Given the description of an element on the screen output the (x, y) to click on. 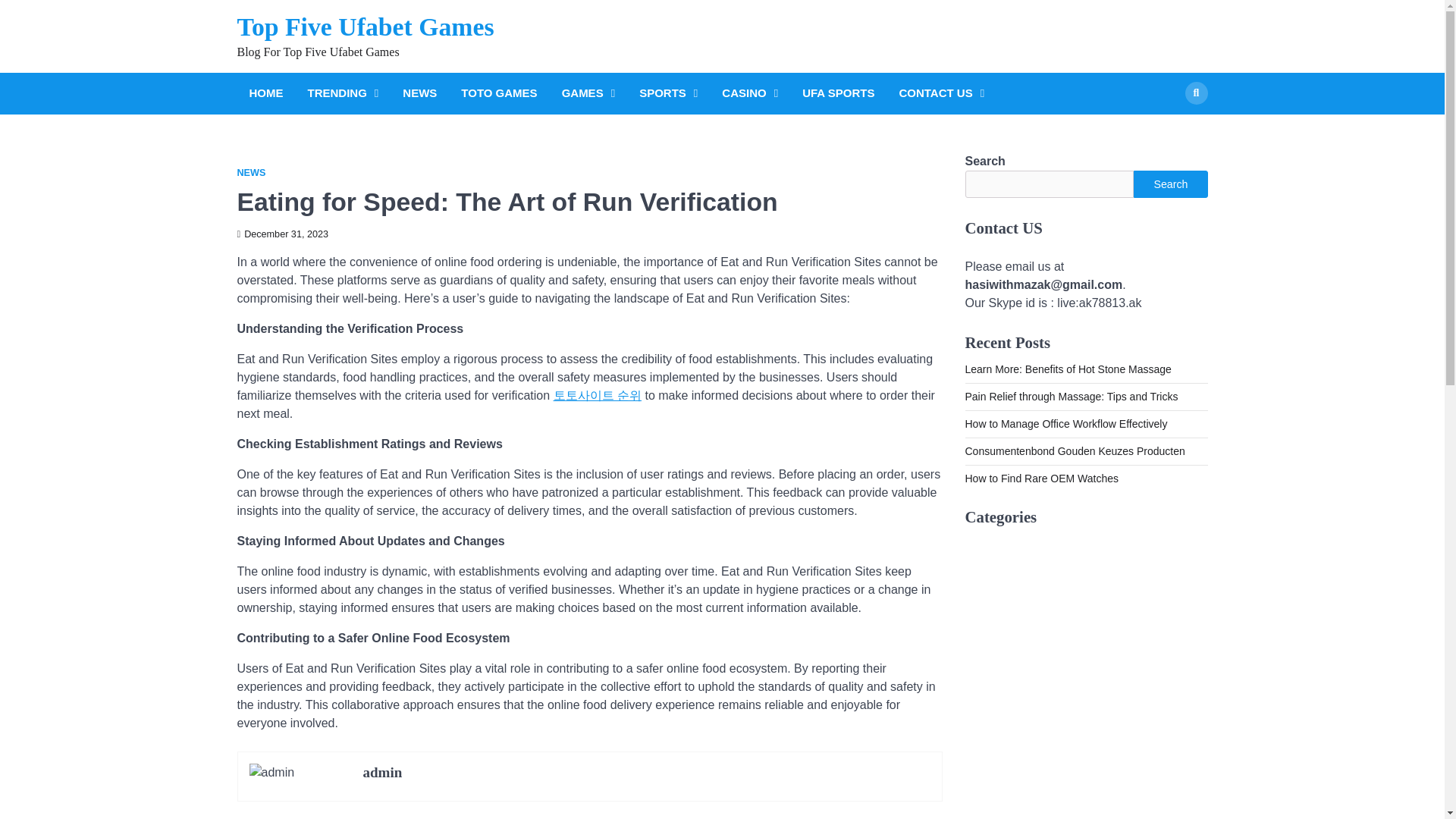
NEWS (249, 173)
SPORTS (668, 93)
CONTACT US (941, 93)
Top Five Ufabet Games (364, 26)
GAMES (588, 93)
TRENDING (343, 93)
CASINO (750, 93)
December 31, 2023 (282, 234)
NEWS (419, 93)
HOME (265, 93)
UFA SPORTS (838, 93)
TOTO GAMES (498, 93)
Search (1196, 92)
Learn More: Benefits of Hot Stone Massage (1066, 369)
Pain Relief through Massage: Tips and Tricks (1070, 396)
